Given the description of an element on the screen output the (x, y) to click on. 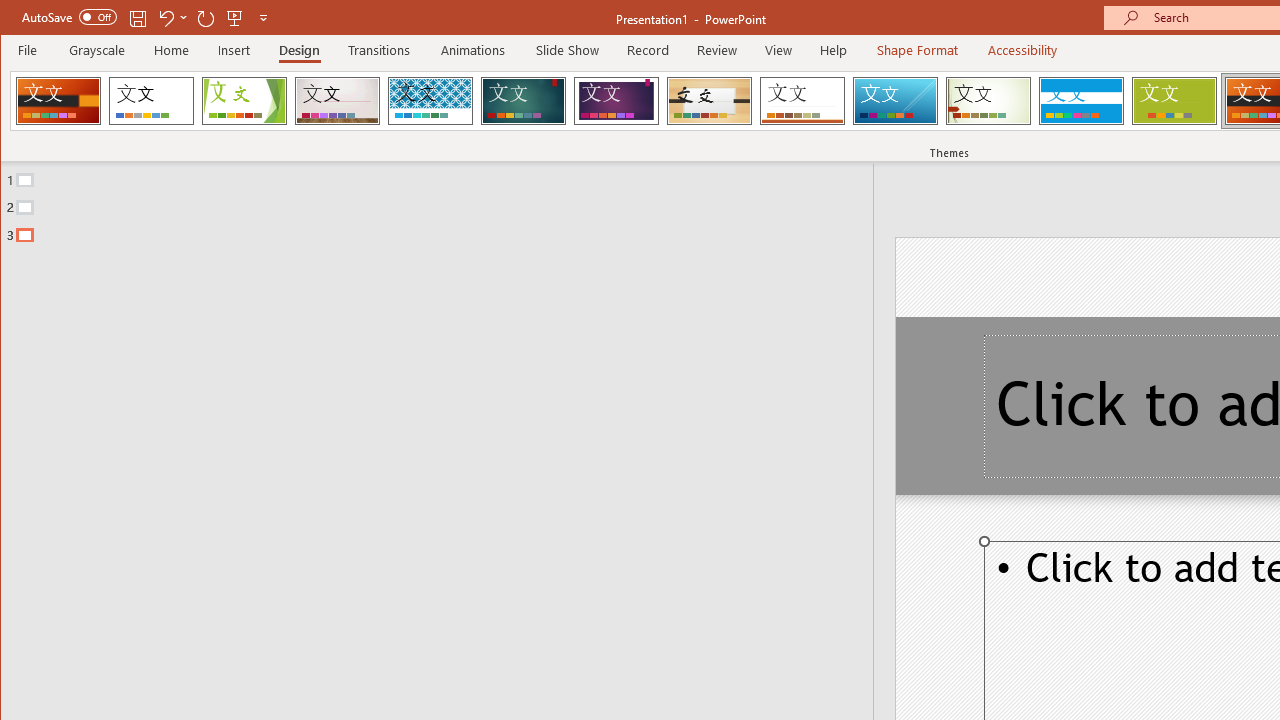
Slice (895, 100)
Ion (523, 100)
Retrospect (802, 100)
